Given the description of an element on the screen output the (x, y) to click on. 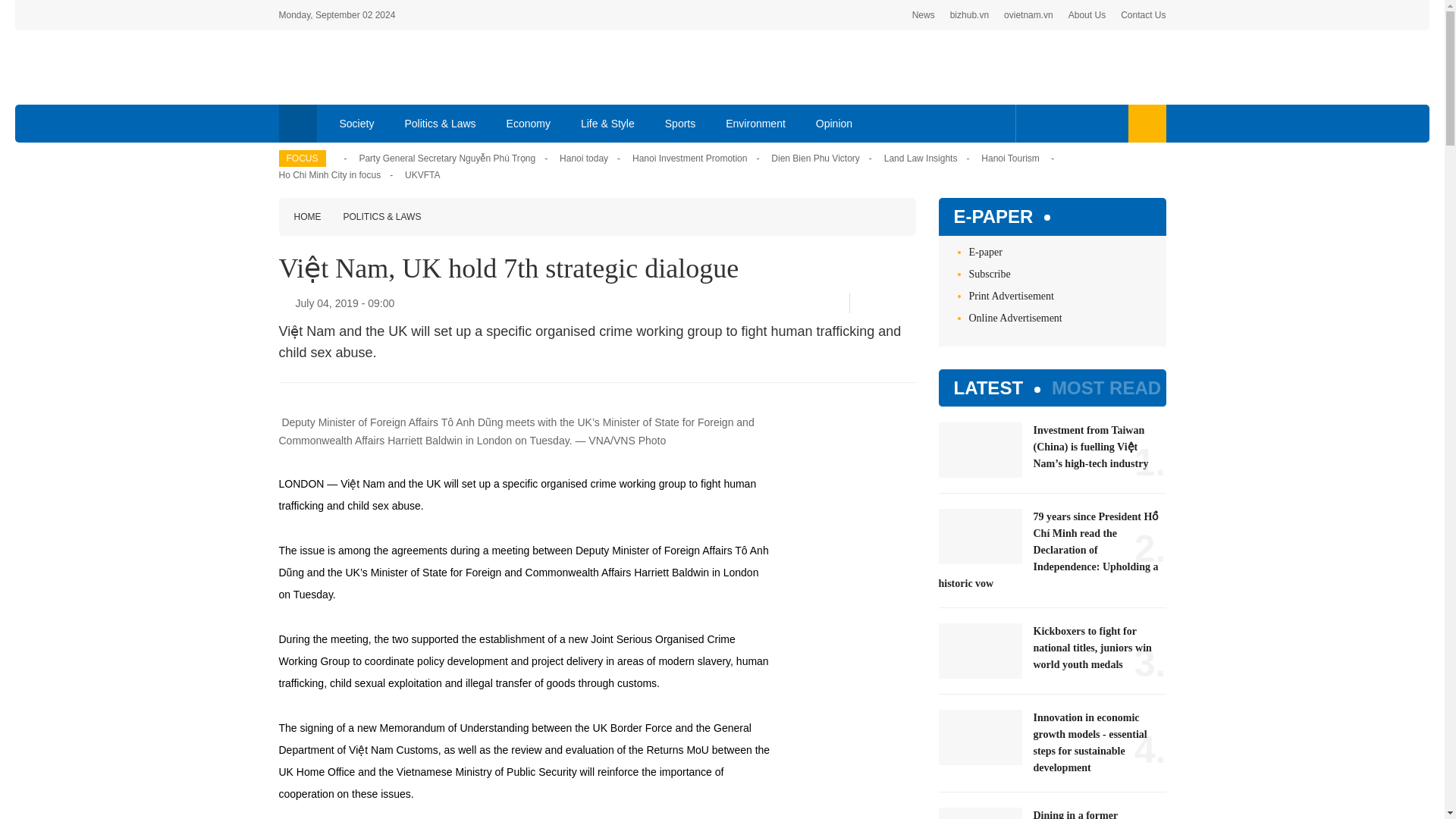
Economy (529, 123)
Society (357, 123)
Youtube (1081, 122)
ovietnam.vn (1028, 15)
Contact Us (1143, 15)
About Us (1086, 15)
Instagram (1106, 123)
News (923, 15)
Email (909, 303)
Twitter (1056, 122)
